Given the description of an element on the screen output the (x, y) to click on. 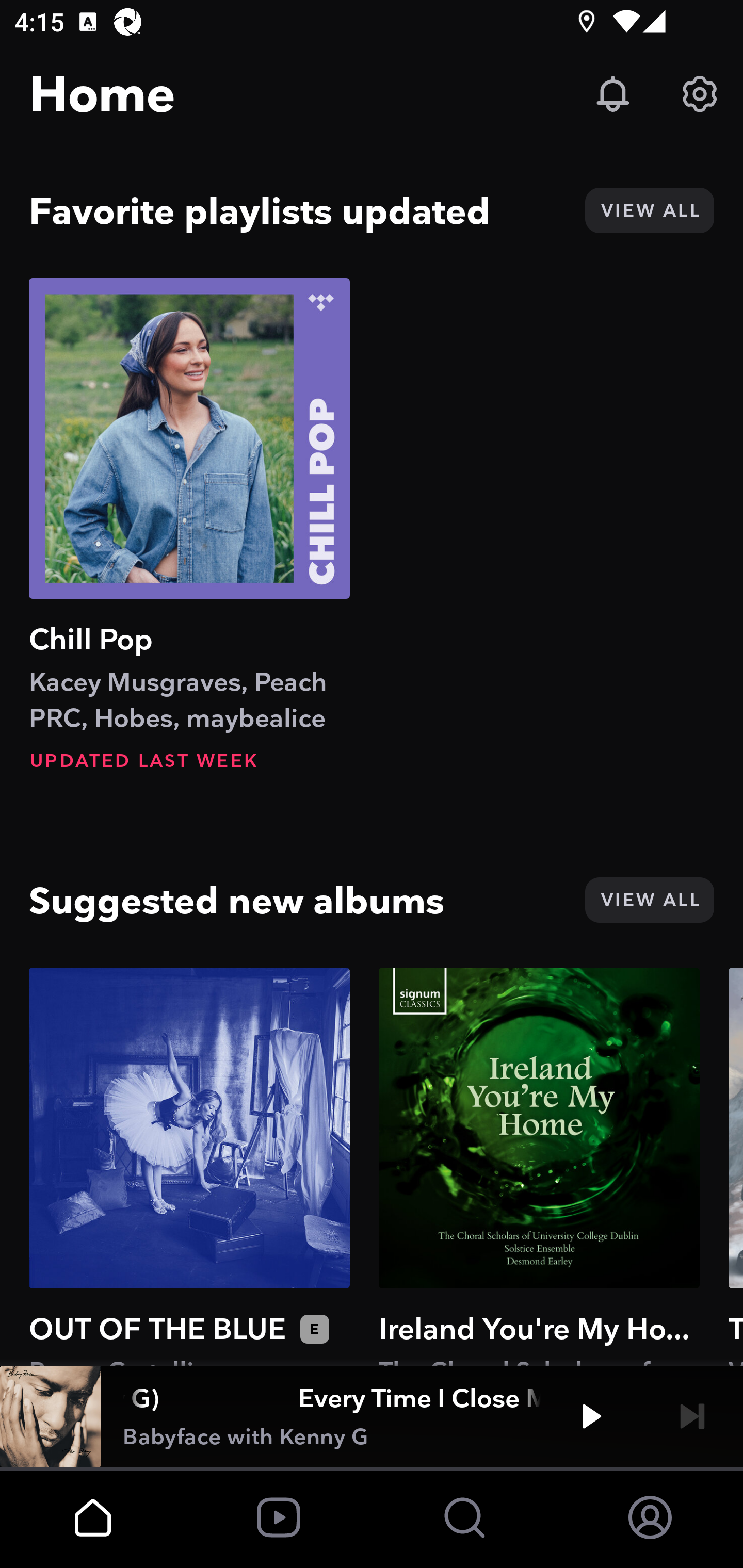
Updates (612, 93)
Settings (699, 93)
VIEW ALL (649, 210)
VIEW ALL (649, 899)
OUT OF THE BLUE Brynn Cartelli (188, 1166)
Play (590, 1416)
